Given the description of an element on the screen output the (x, y) to click on. 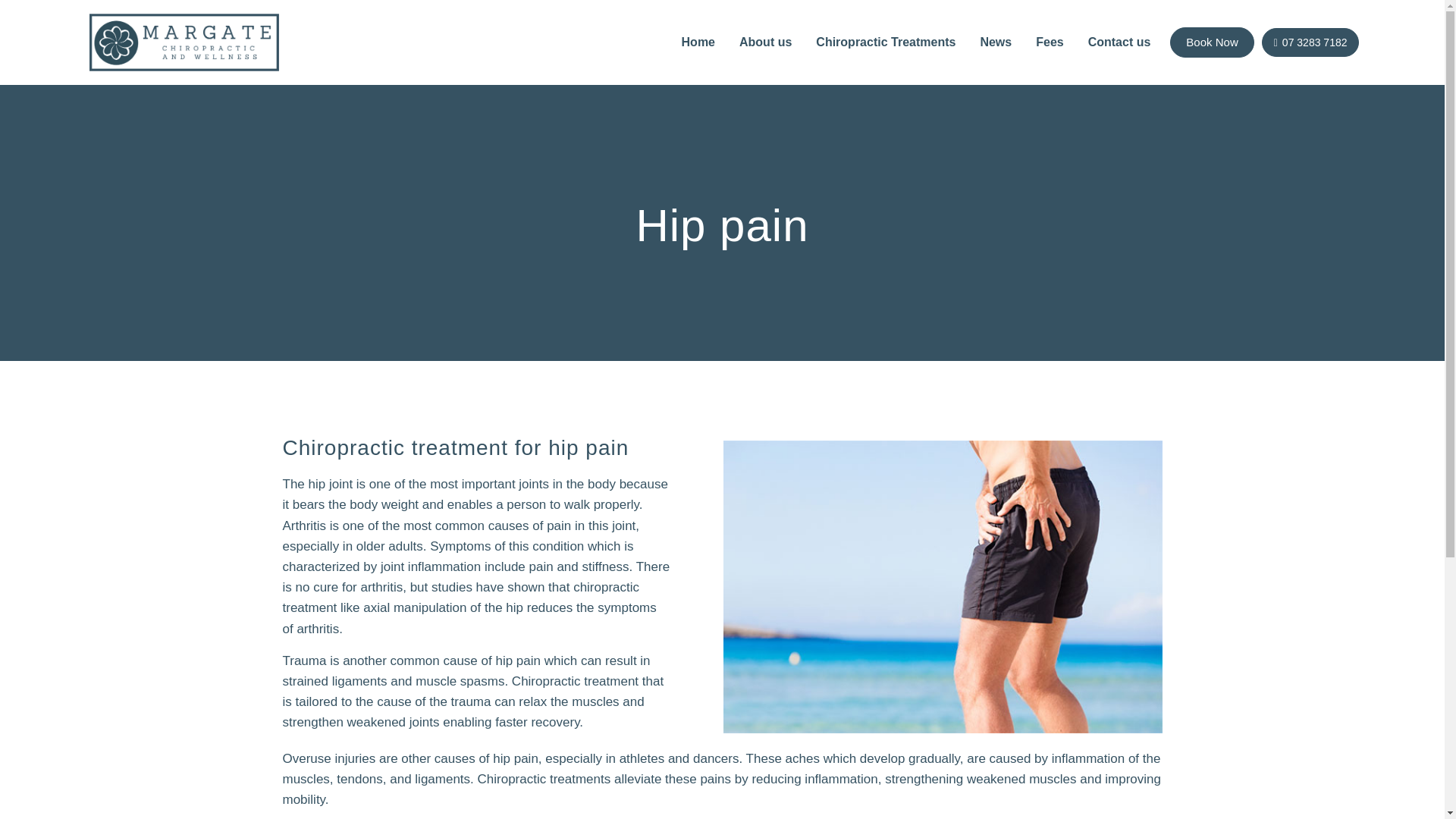
News (994, 42)
About us (765, 42)
Home (698, 42)
Contact us (1119, 42)
Chiropractic Treatments (885, 42)
